Given the description of an element on the screen output the (x, y) to click on. 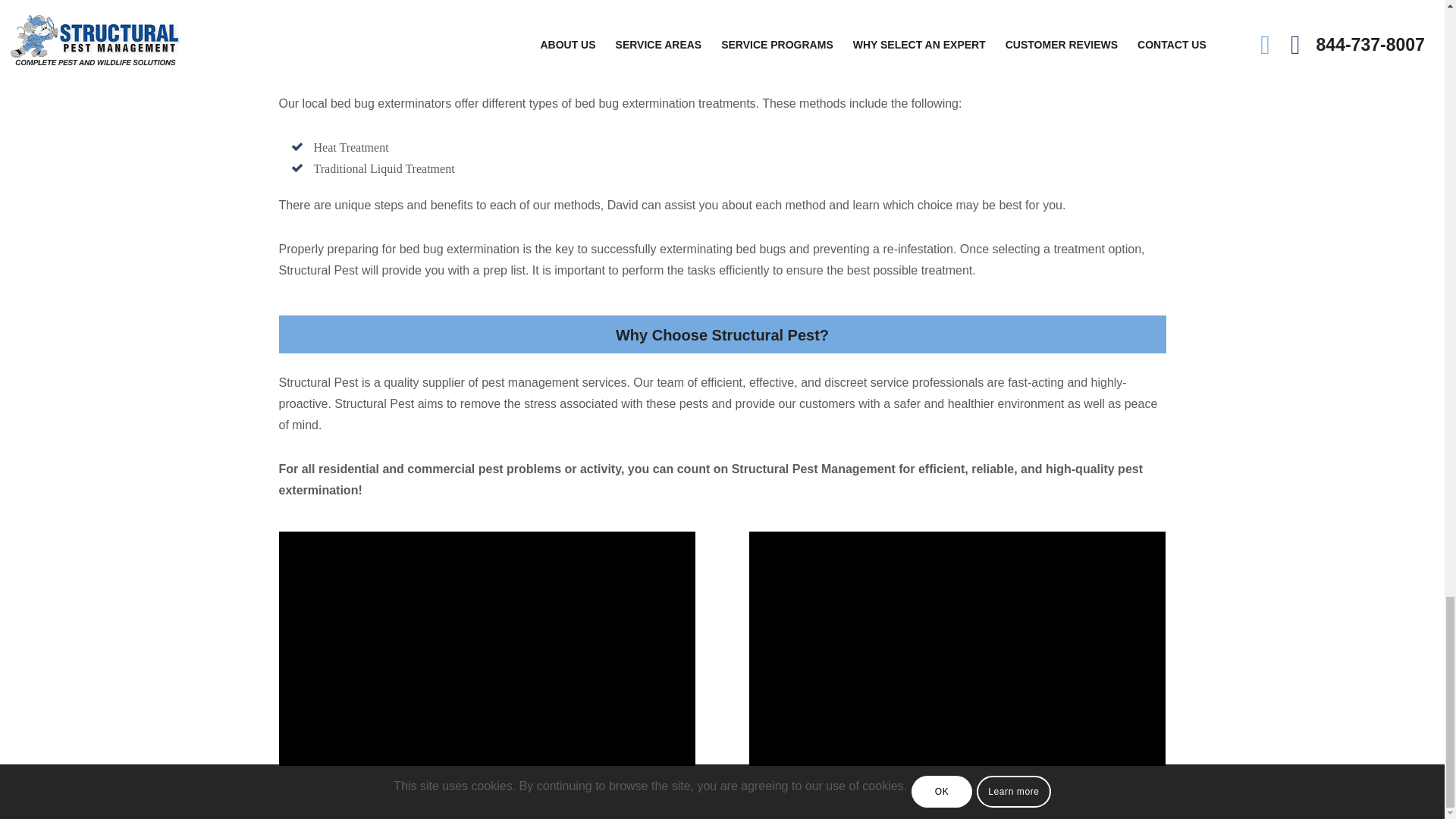
What Do Bed Bug Bites Look Like? (957, 648)
The Life Cycle of a Bed Bug (487, 648)
